Given the description of an element on the screen output the (x, y) to click on. 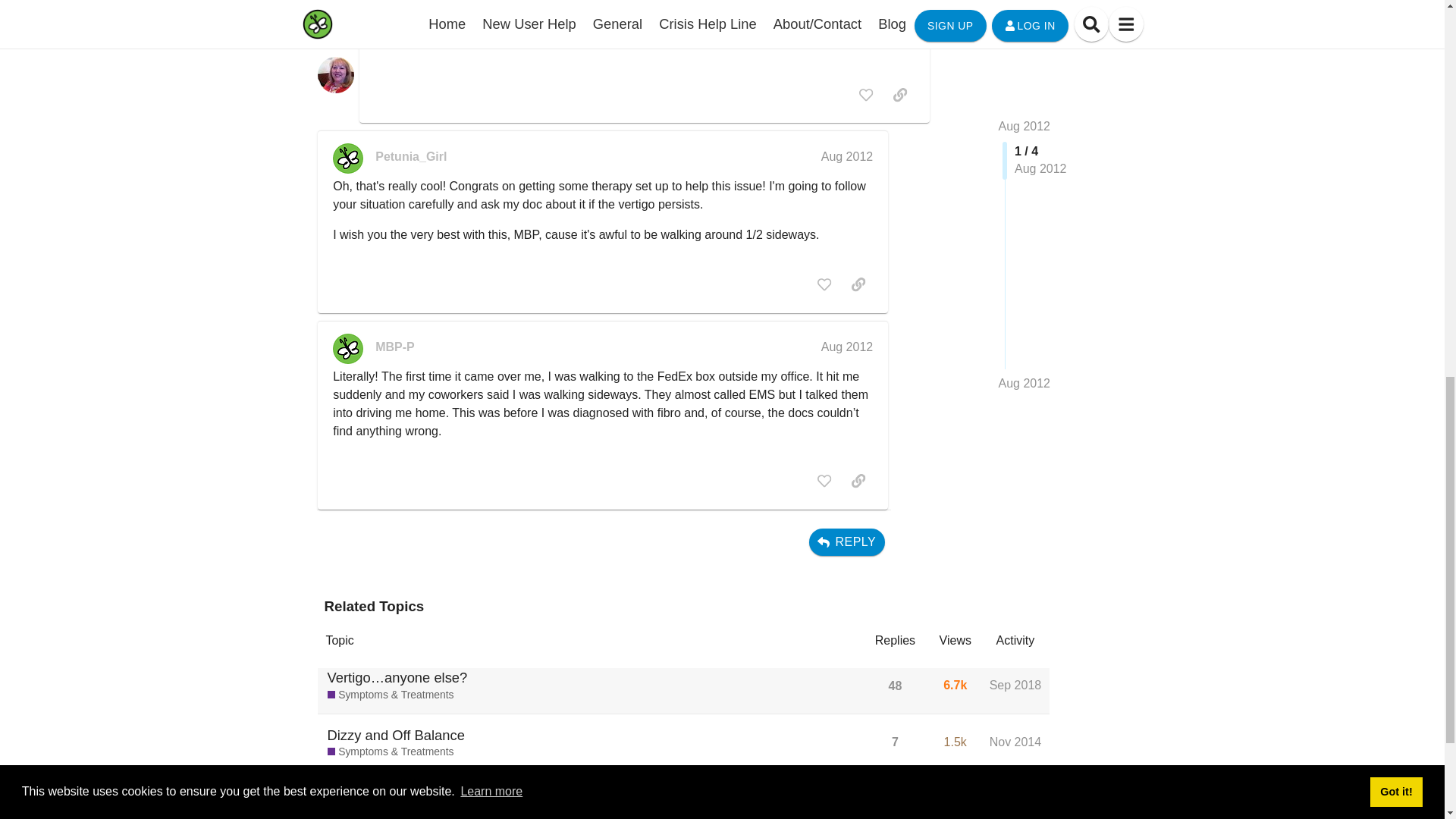
copy a link to this post to clipboard (899, 94)
Aug 2012 (847, 155)
Post date (847, 155)
like this post (865, 94)
